Given the description of an element on the screen output the (x, y) to click on. 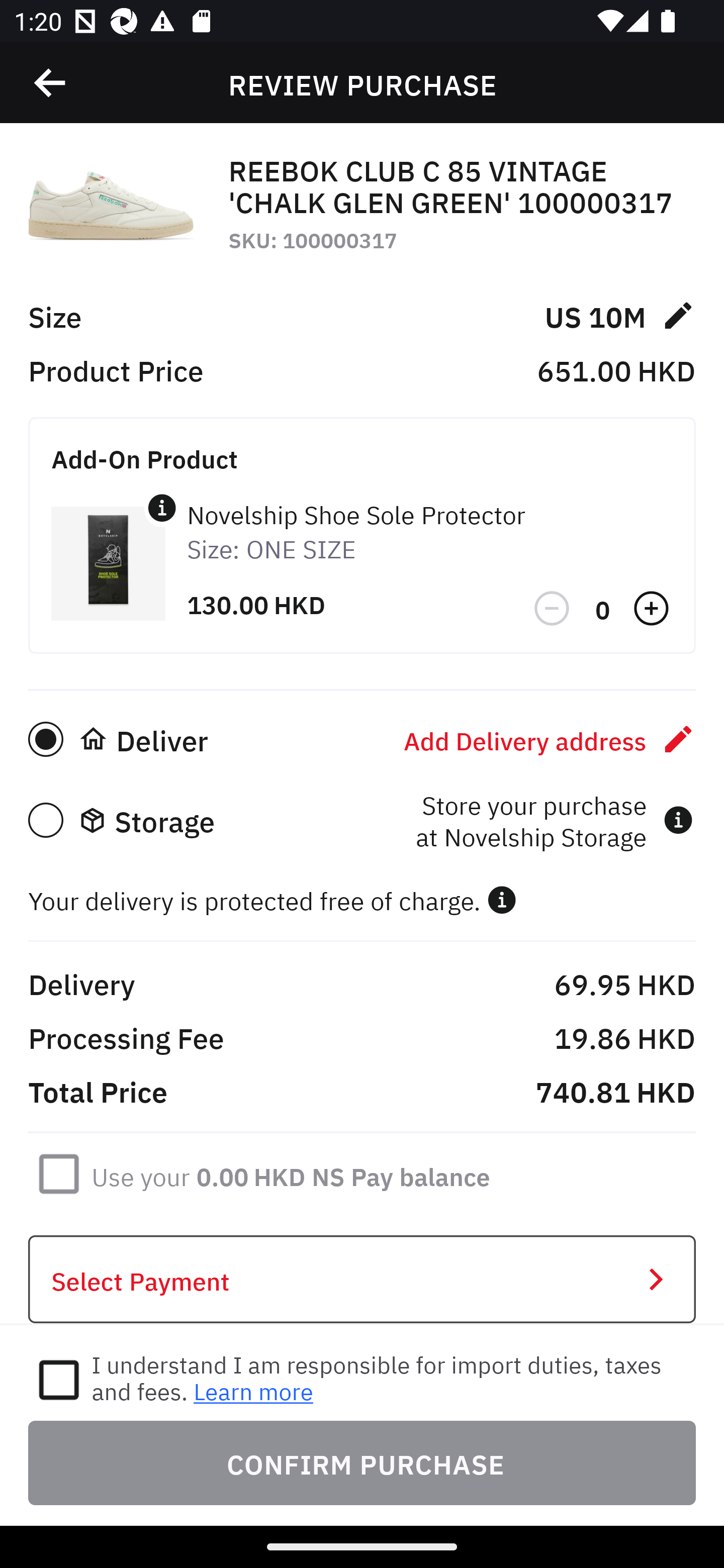
 (50, 83)
US 10M 󰏫 (619, 314)
 (162, 507)
 (553, 608)
 (652, 608)
󰚡 Deliver Add Delivery address 󰏫 (361, 739)
Add Delivery address 󰏫 (549, 739)
Store your purchase
at Novelship Storage  (554, 819)
 (501, 899)
Use your 0.00 HKD NS Pay balance (290, 1173)
Select Payment  (361, 1279)
 CONFIRM PURCHASE (361, 1462)
